Given the description of an element on the screen output the (x, y) to click on. 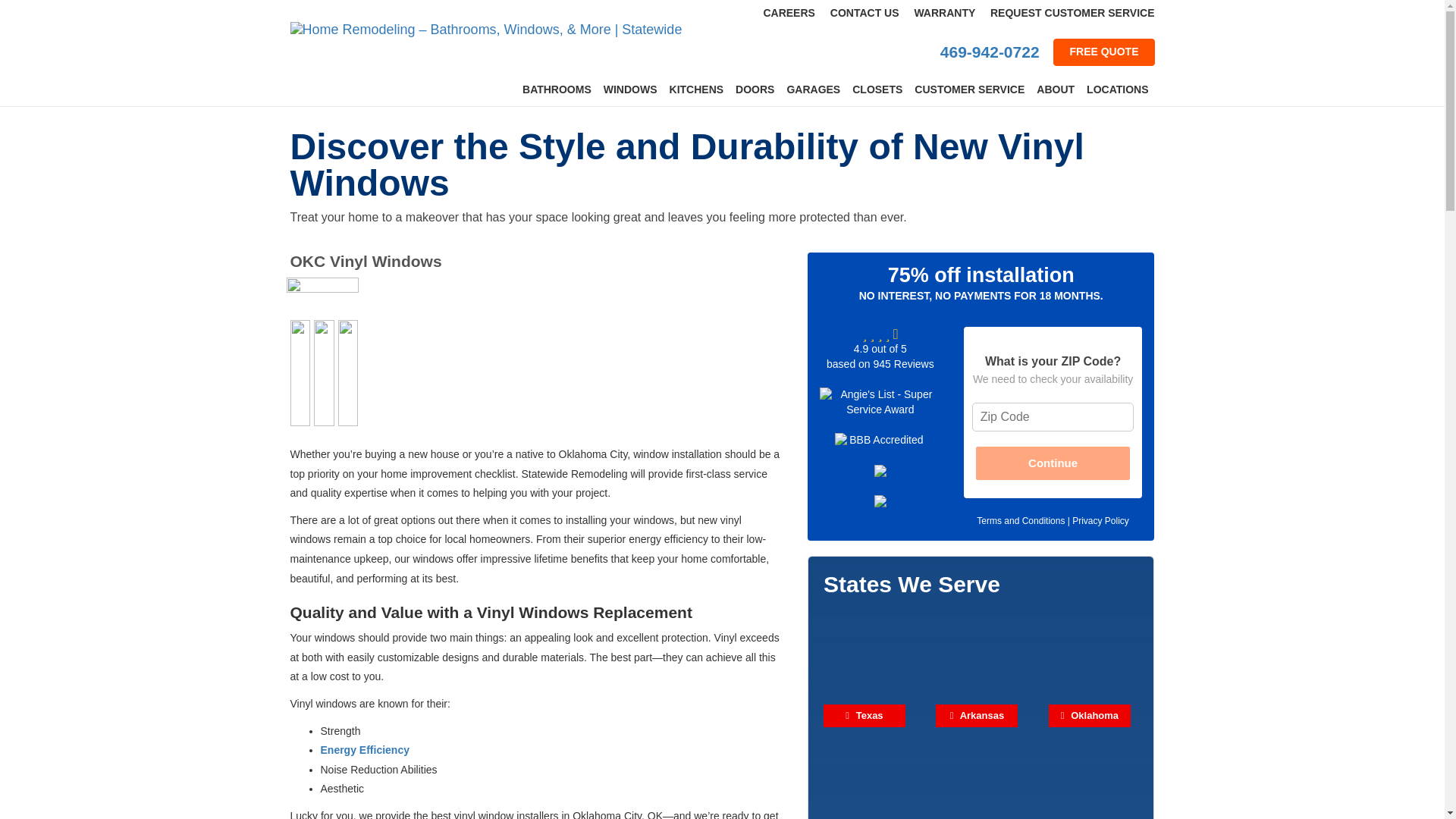
CAREERS (787, 12)
469-942-0722 (989, 52)
FREE QUOTE (1103, 52)
CONTACT US (864, 12)
WINDOWS (629, 89)
REQUEST CUSTOMER SERVICE (1072, 12)
FREE QUOTE (1103, 52)
BATHROOMS (556, 89)
WARRANTY (944, 12)
